Given the description of an element on the screen output the (x, y) to click on. 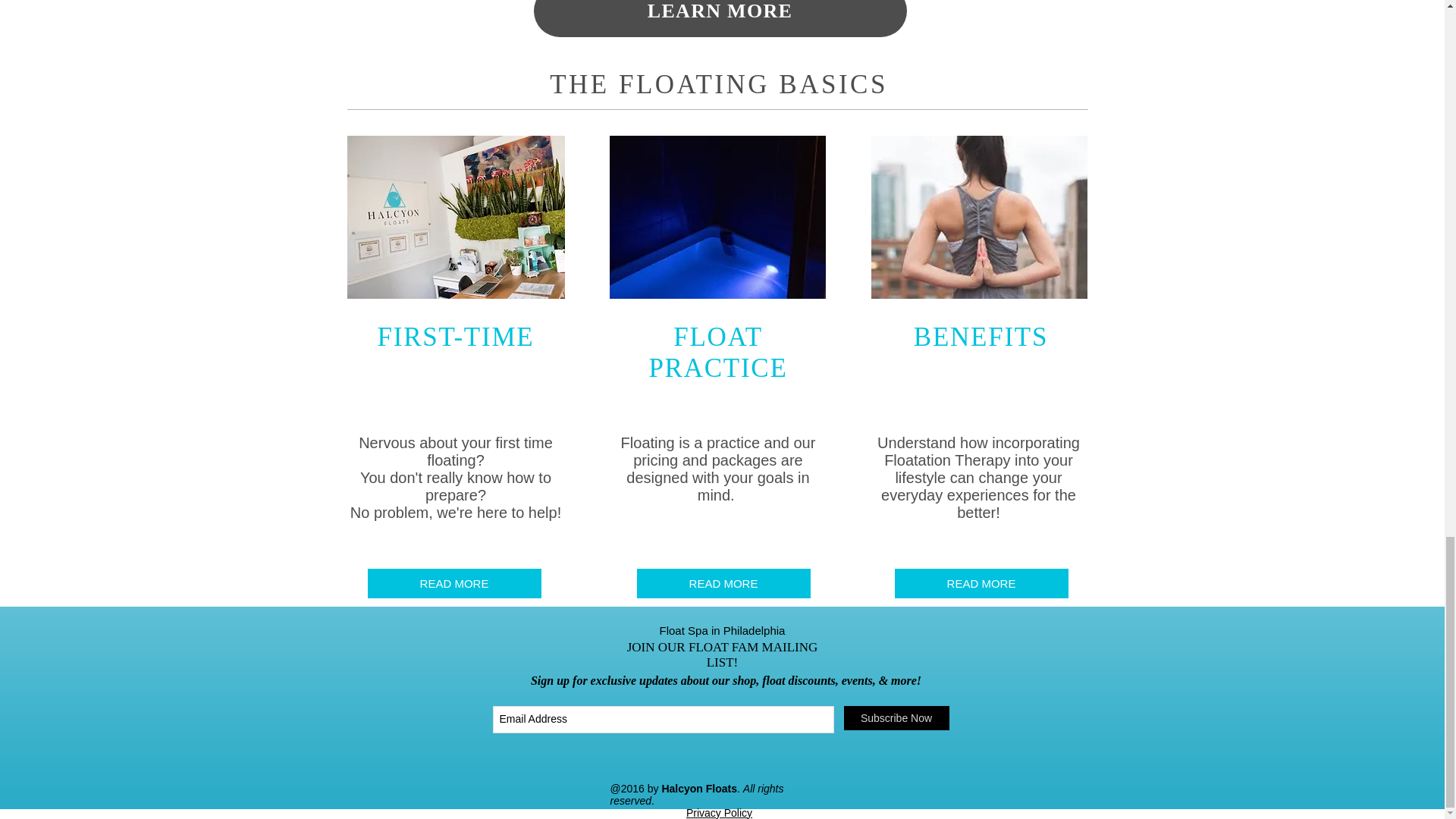
READ MORE (723, 583)
LEARN MORE (720, 18)
Subscribe Now (896, 717)
READ MORE (453, 583)
READ MORE (981, 583)
